Given the description of an element on the screen output the (x, y) to click on. 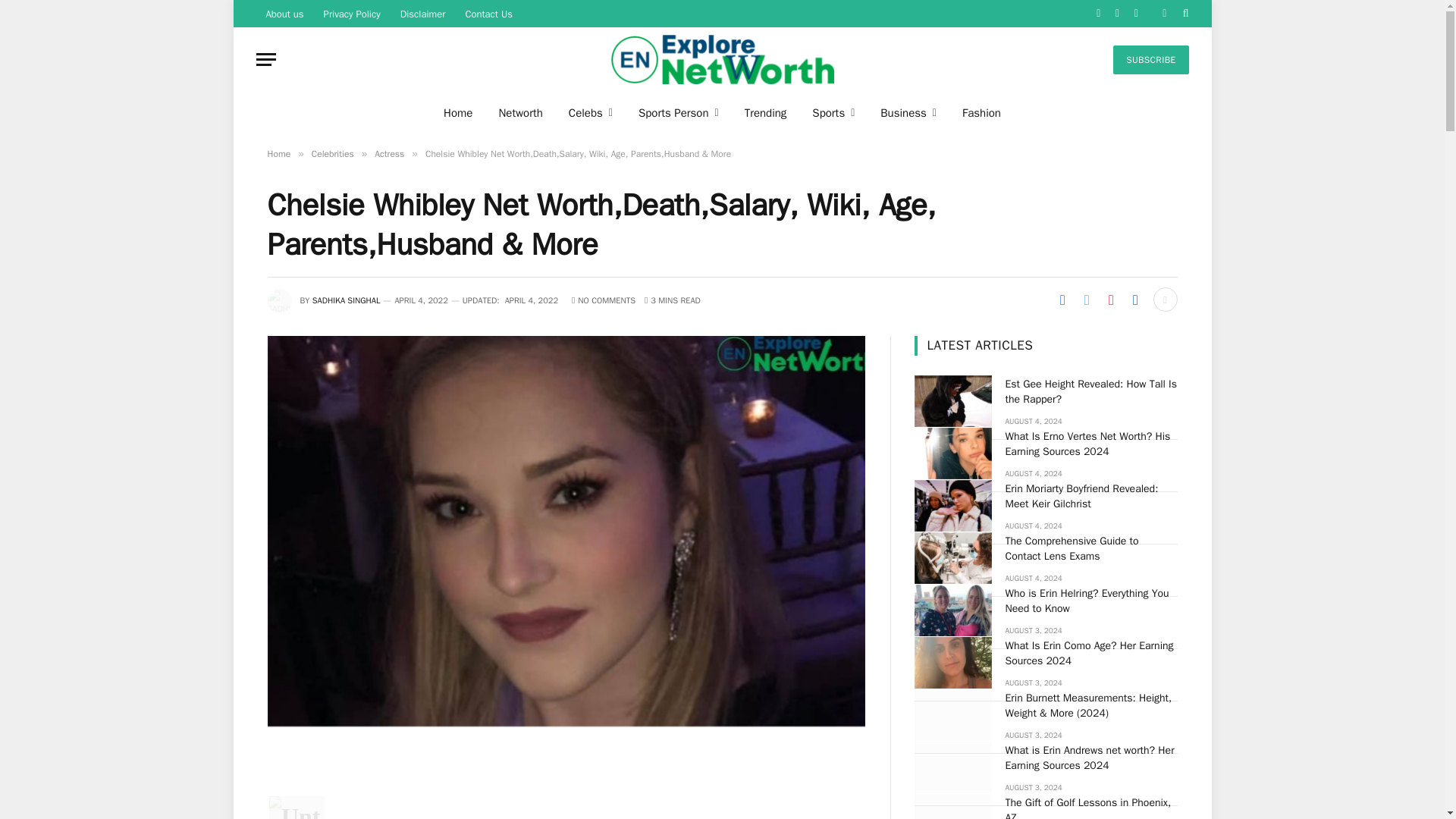
Sports Person (679, 112)
Disclaimer (422, 13)
Explore Net Worth (722, 59)
Posts by Sadhika Singhal (346, 299)
Share on Facebook (1062, 299)
About us (285, 13)
Contact Us (488, 13)
Switch to Dark Design - easier on eyes. (1164, 13)
Privacy Policy (352, 13)
Home (457, 112)
Trending (765, 112)
Celebs (591, 112)
Sports (833, 112)
Share on Pinterest (1110, 299)
SUBSCRIBE (1150, 59)
